Given the description of an element on the screen output the (x, y) to click on. 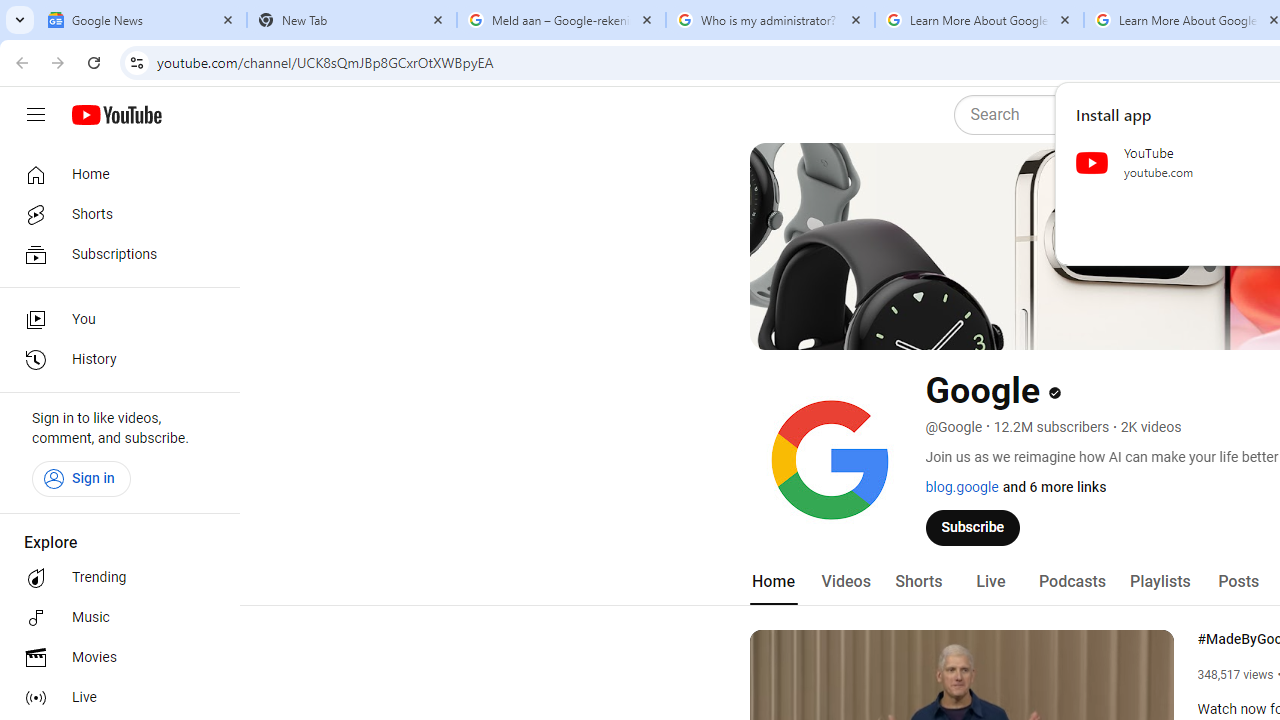
Subscribe (973, 527)
